Given the description of an element on the screen output the (x, y) to click on. 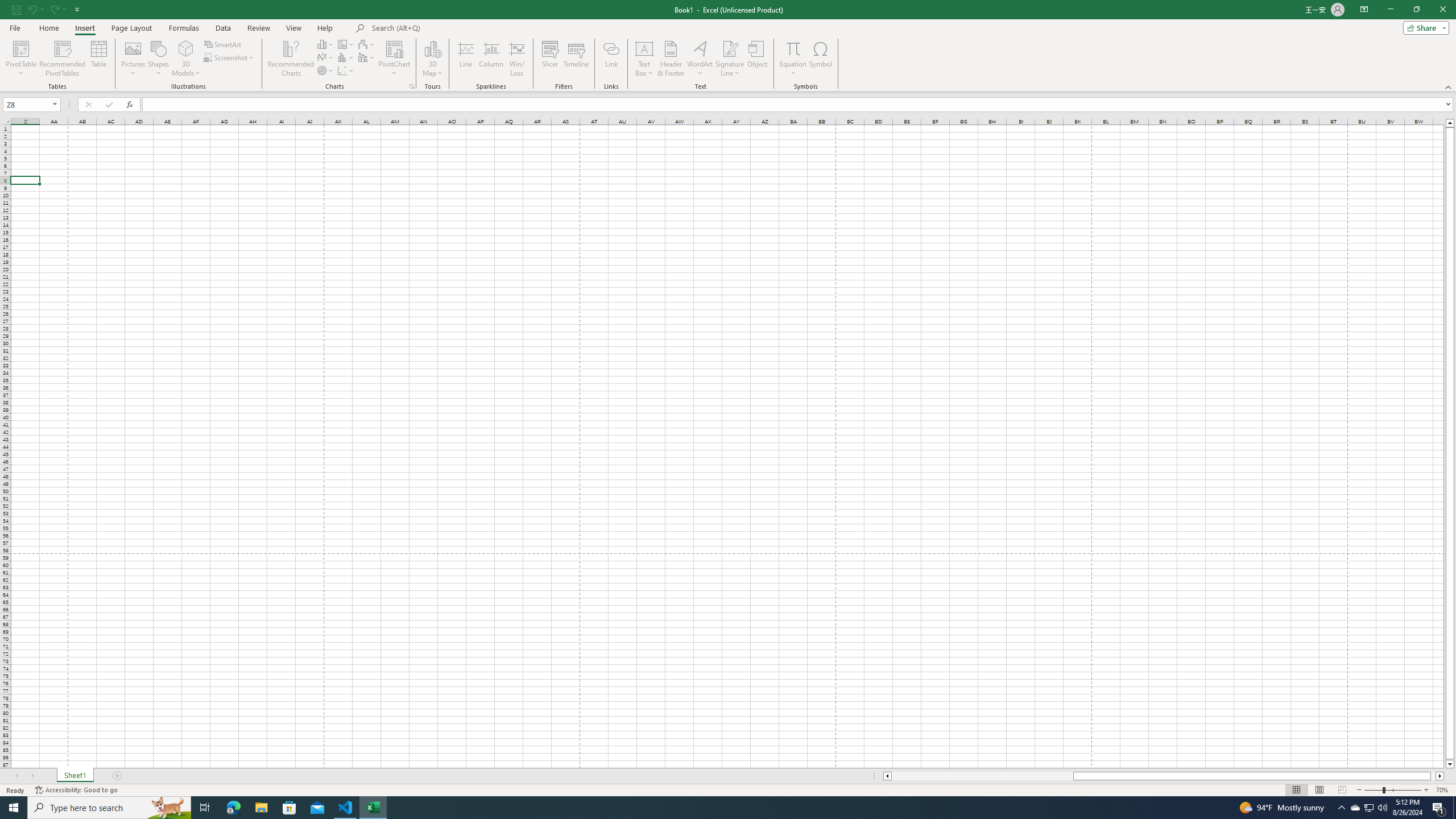
Slicer... (550, 58)
Insert Pie or Doughnut Chart (325, 69)
Table (98, 58)
Text Box (643, 58)
PivotChart (394, 58)
Shapes (158, 58)
PivotTable (20, 48)
Object... (757, 58)
